Given the description of an element on the screen output the (x, y) to click on. 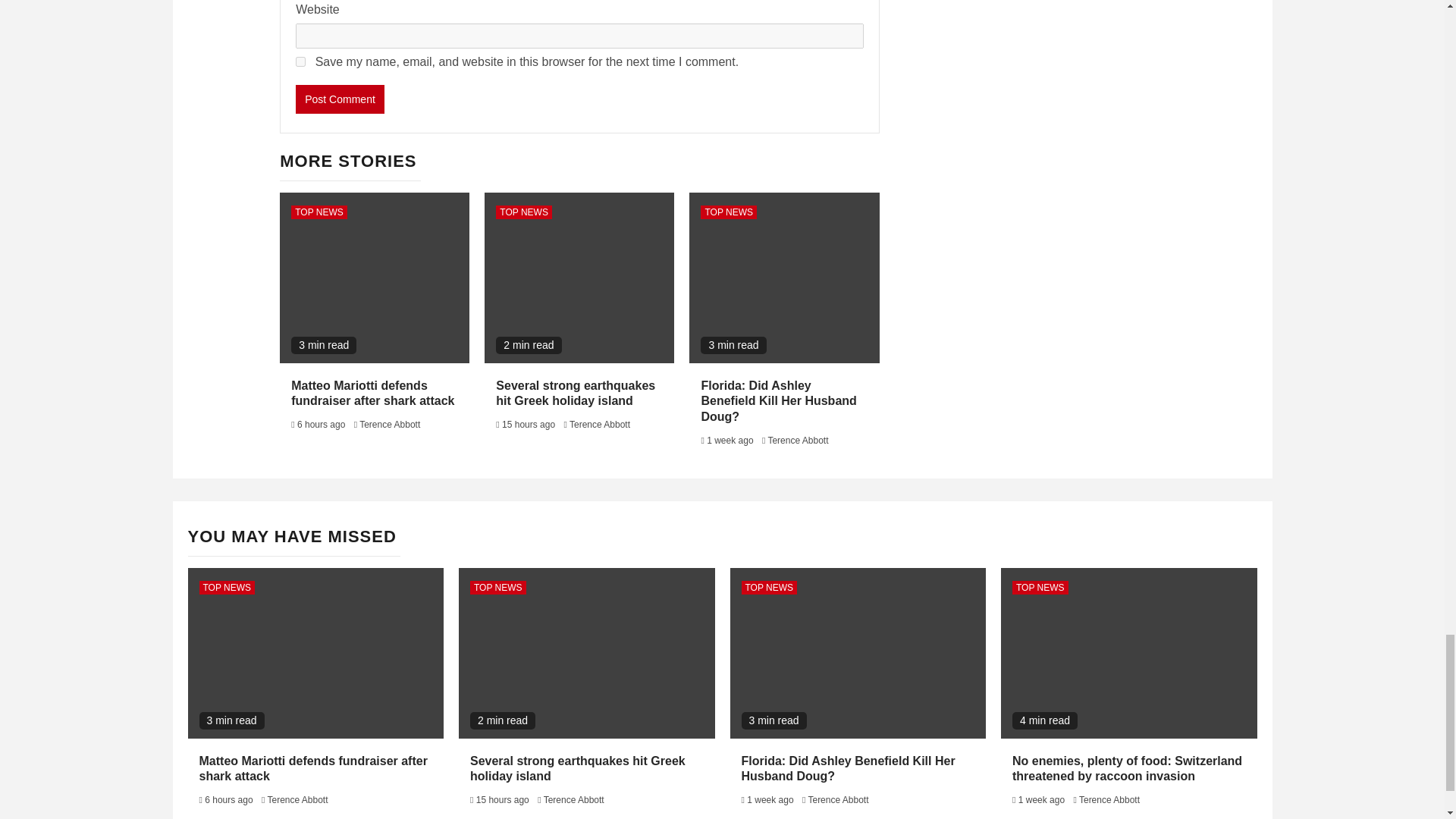
Matteo Mariotti defends fundraiser after shark attack (372, 393)
Post Comment (339, 99)
TOP NEWS (319, 212)
Post Comment (339, 99)
yes (300, 61)
Terence Abbott (389, 424)
